Given the description of an element on the screen output the (x, y) to click on. 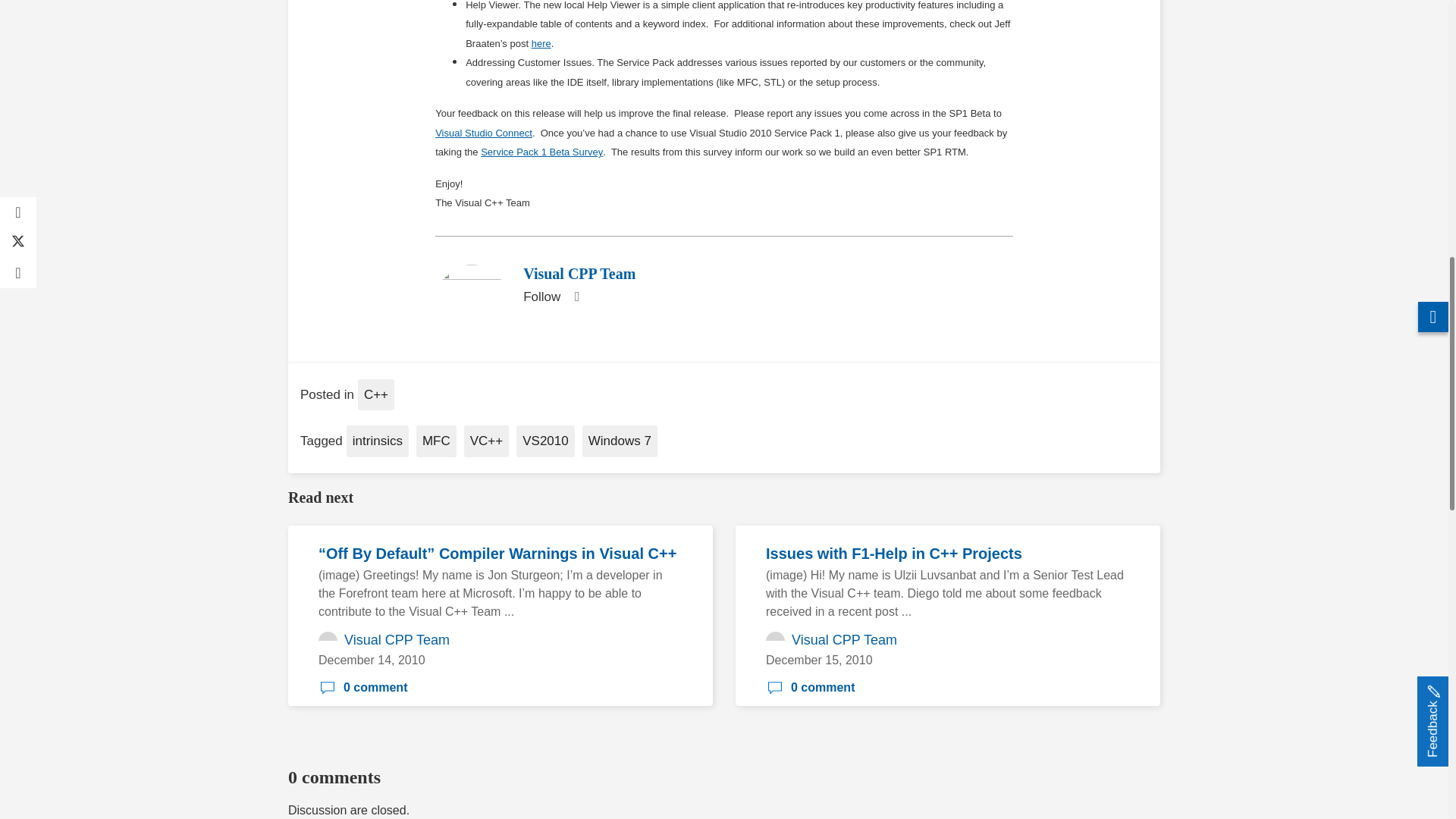
RSS Feed (576, 296)
